Given the description of an element on the screen output the (x, y) to click on. 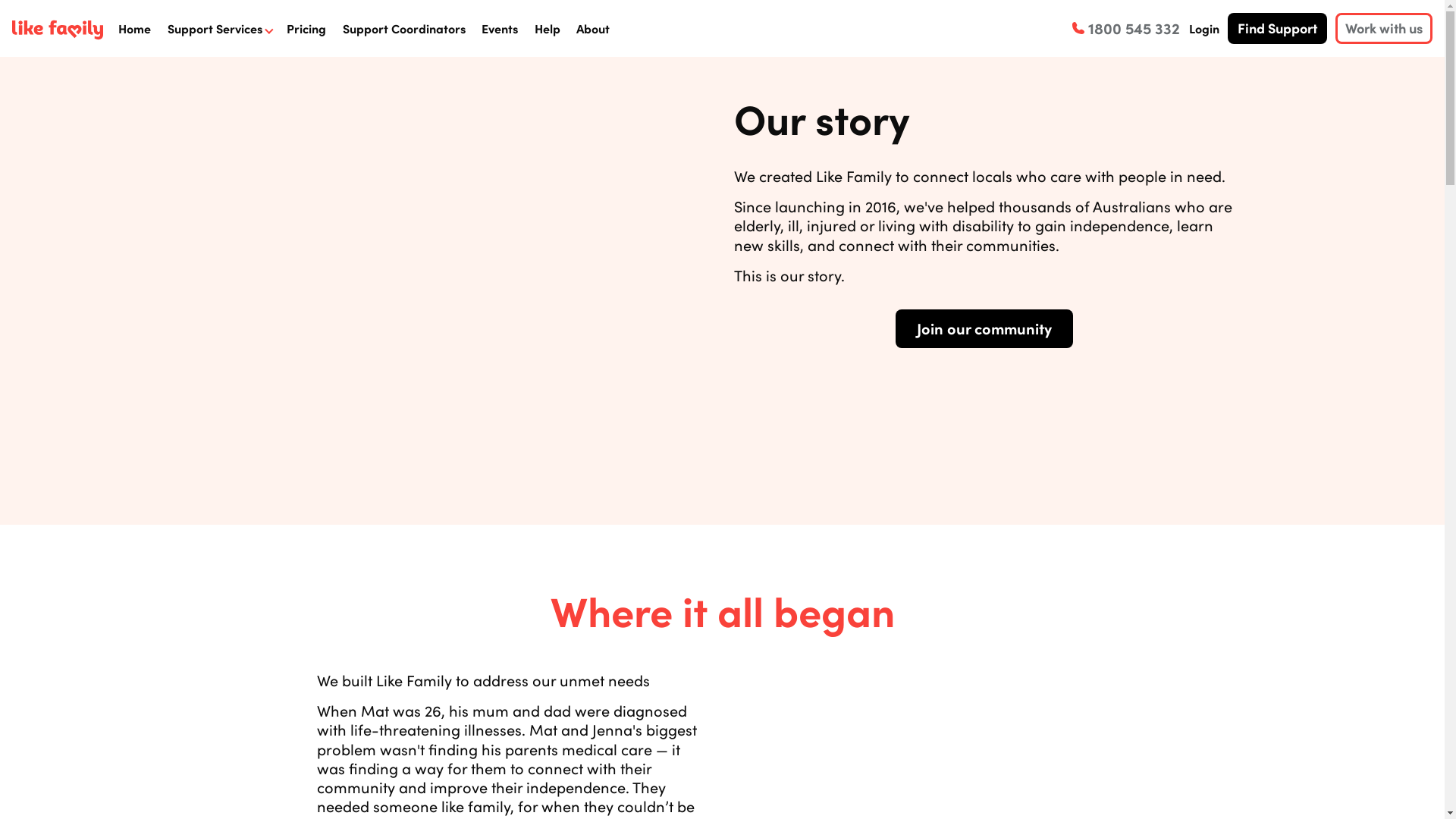
Find Support Element type: text (1277, 27)
Support Services Element type: text (214, 28)
Join our community Element type: text (983, 328)
Login Element type: text (1204, 28)
Help Element type: text (547, 28)
Home Element type: text (134, 28)
Pricing Element type: text (306, 28)
Events Element type: text (499, 28)
About Element type: text (592, 28)
Support Coordinators Element type: text (403, 28)
Work with us Element type: text (1383, 27)
1800 545 332 Element type: text (1125, 27)
